Given the description of an element on the screen output the (x, y) to click on. 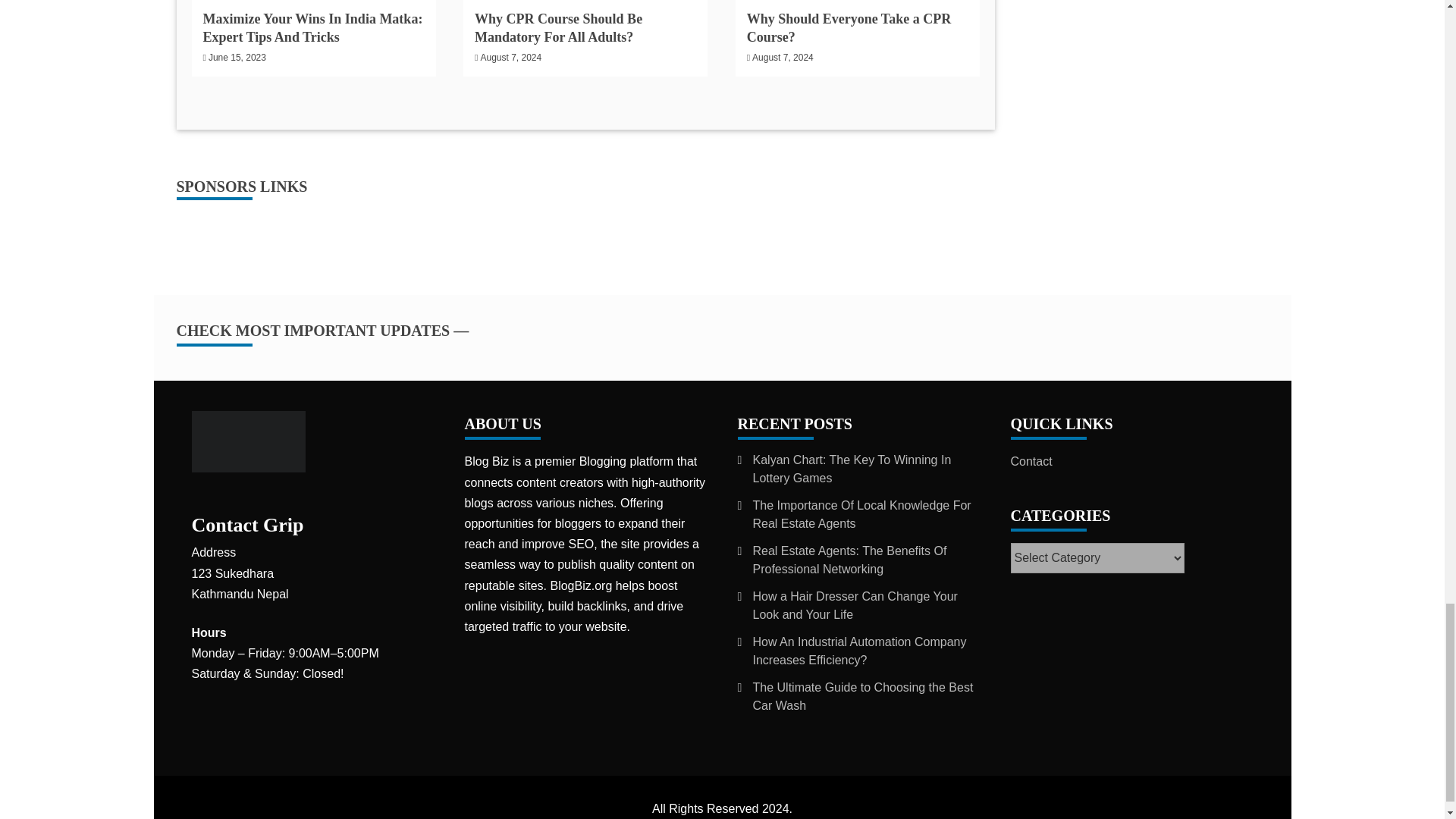
June 15, 2023 (237, 57)
Maximize Your Wins In India Matka: Expert Tips And Tricks (313, 27)
Why CPR Course Should Be Mandatory For All Adults? (558, 27)
